Given the description of an element on the screen output the (x, y) to click on. 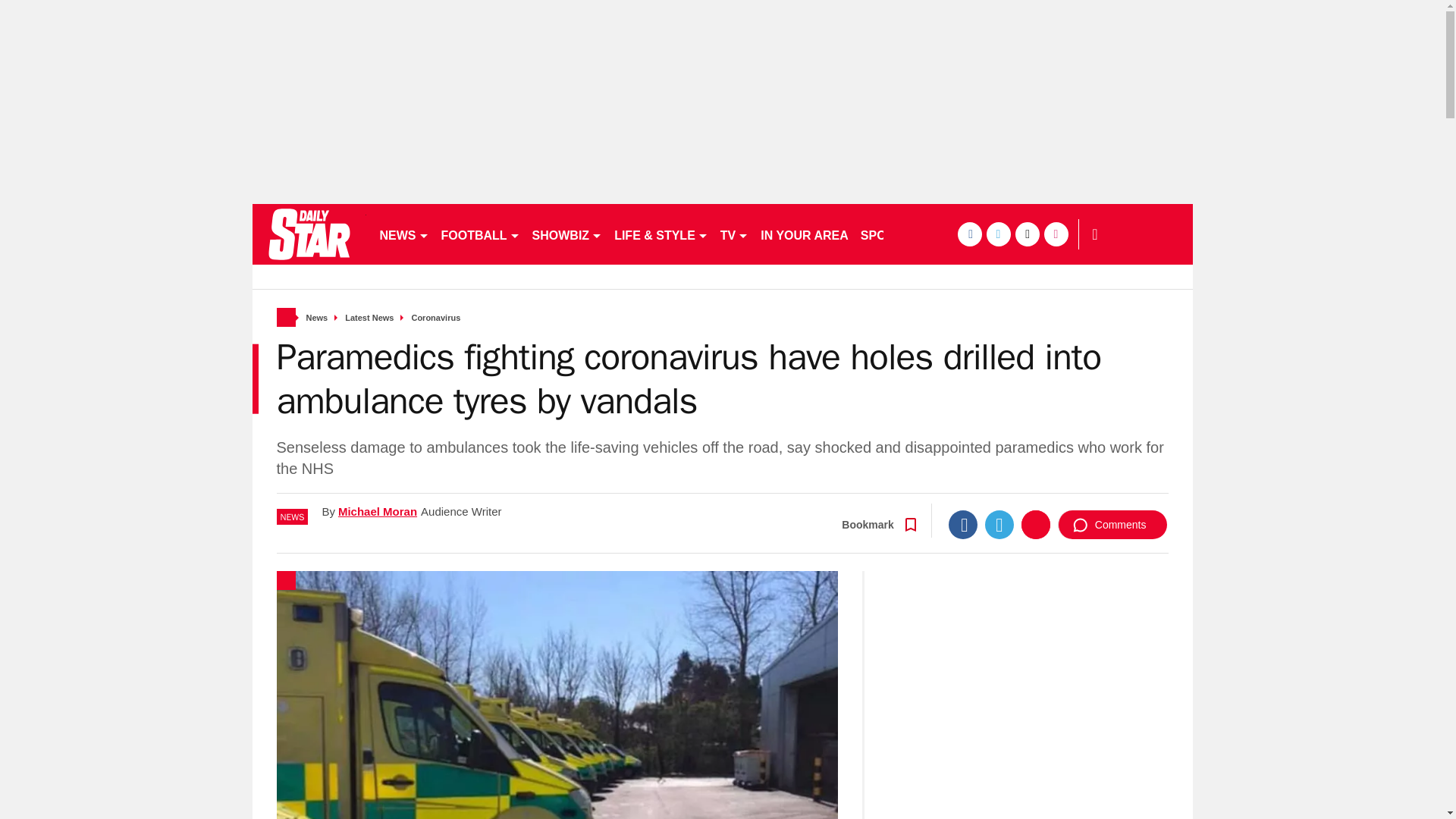
facebook (968, 233)
dailystar (308, 233)
NEWS (402, 233)
twitter (997, 233)
SHOWBIZ (566, 233)
Facebook (962, 524)
tiktok (1026, 233)
Twitter (999, 524)
FOOTBALL (480, 233)
instagram (1055, 233)
